Given the description of an element on the screen output the (x, y) to click on. 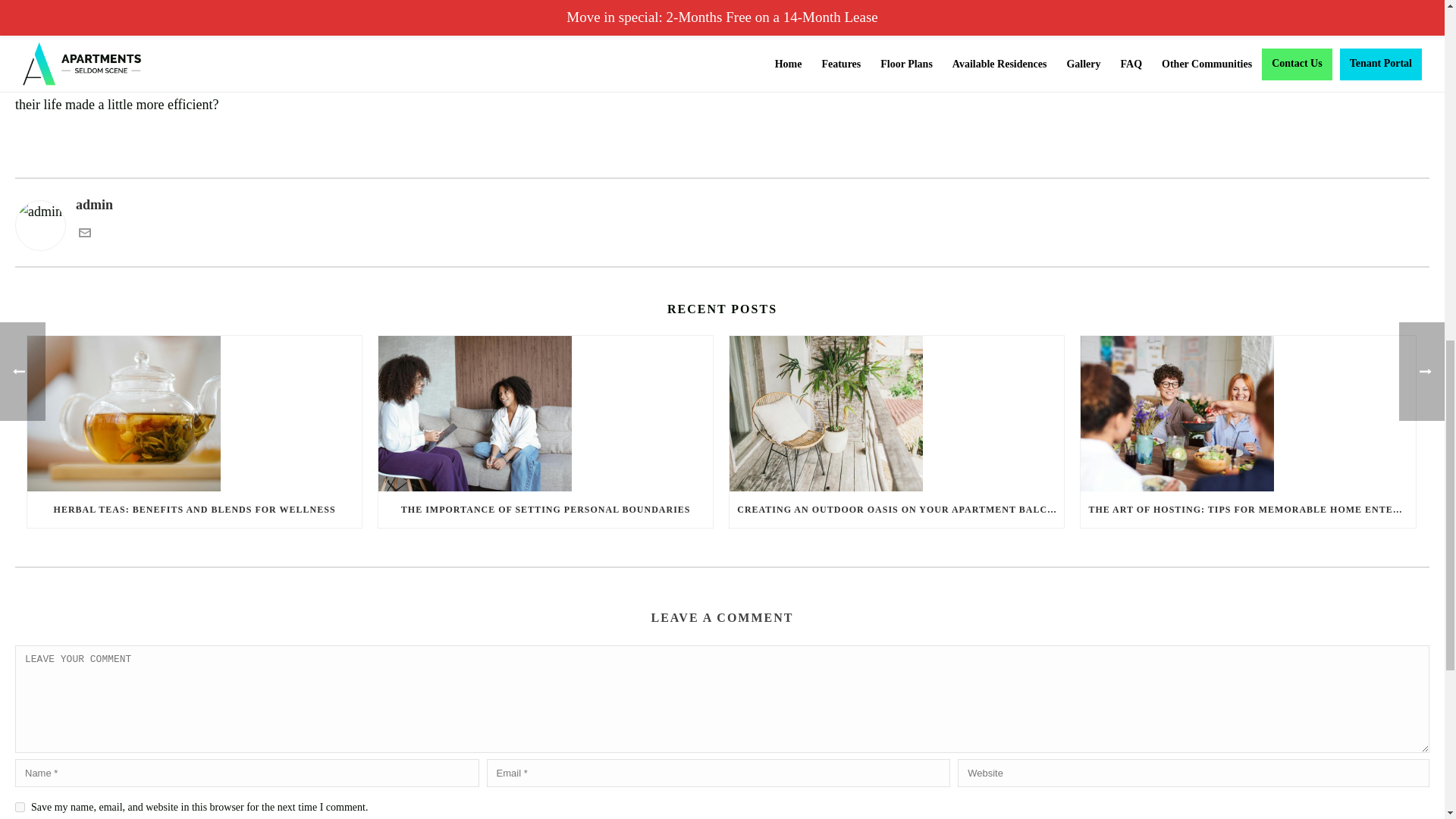
Herbal Teas: Benefits and Blends for Wellness (194, 413)
The Art of Hosting: Tips for Memorable Home Entertaining (1247, 413)
admin (721, 205)
The Importance of Setting Personal Boundaries (545, 413)
HERBAL TEAS: BENEFITS AND BLENDS FOR WELLNESS (194, 509)
THE ART OF HOSTING: TIPS FOR MEMORABLE HOME ENTERTAINING (1247, 509)
THE IMPORTANCE OF SETTING PERSONAL BOUNDARIES (545, 509)
CREATING AN OUTDOOR OASIS ON YOUR APARTMENT BALCONY (896, 509)
yes (19, 807)
Creating an Outdoor Oasis on Your Apartment Balcony (896, 413)
